Given the description of an element on the screen output the (x, y) to click on. 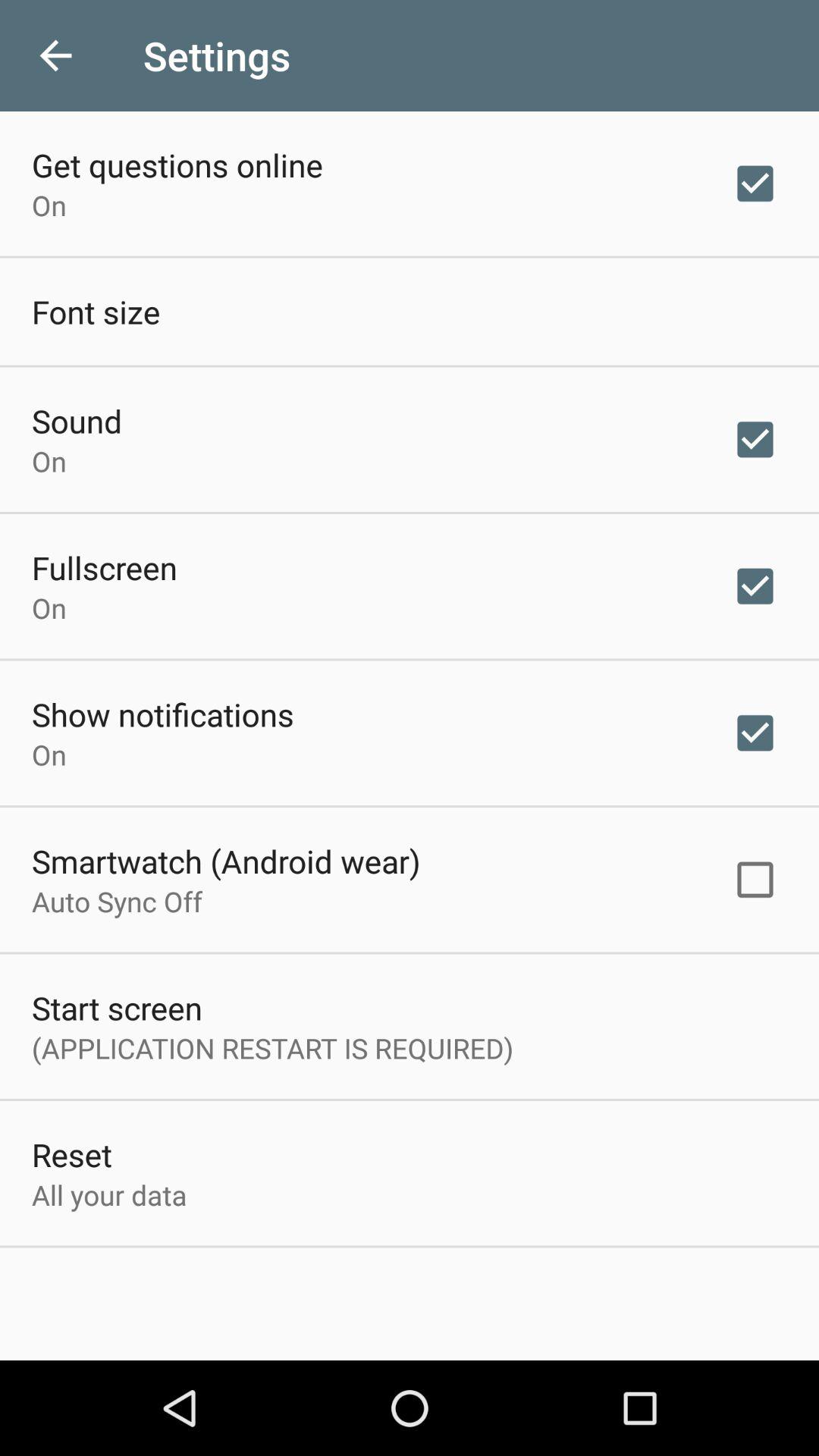
open application restart is icon (272, 1047)
